Given the description of an element on the screen output the (x, y) to click on. 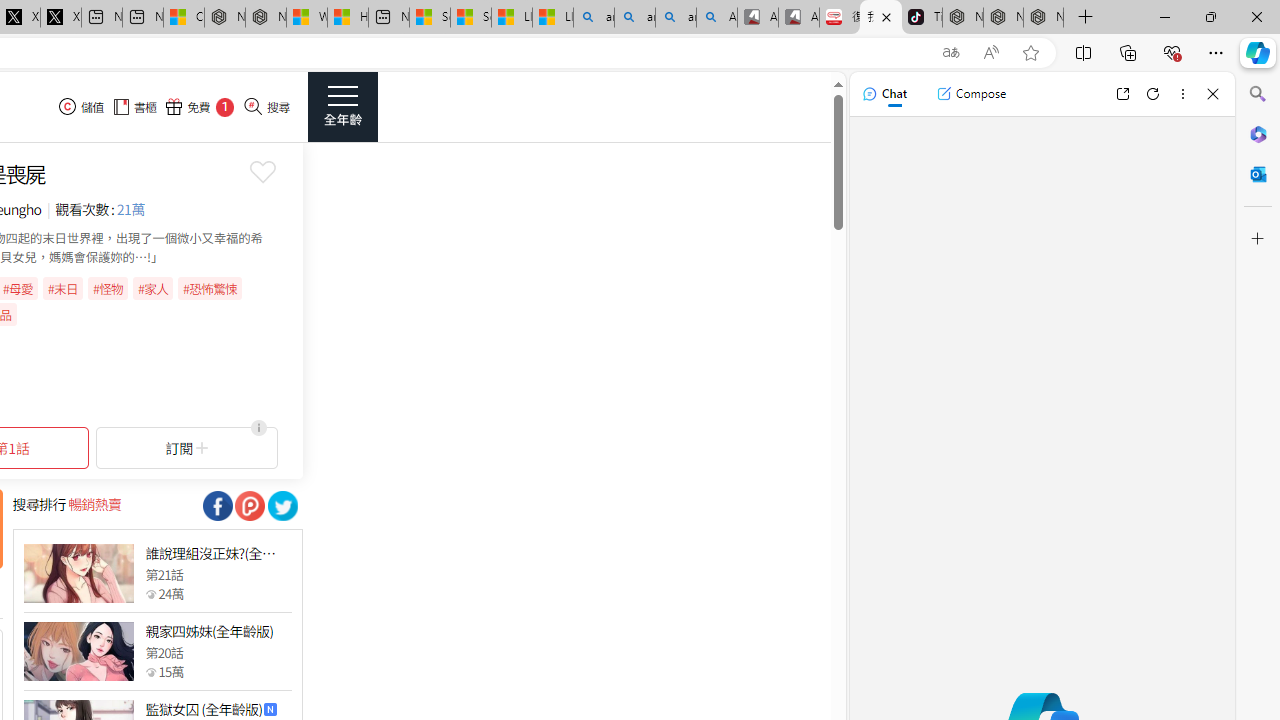
Class: epicon_starpoint (150, 671)
Settings and more (Alt+F) (1215, 52)
New tab (388, 17)
amazon - Search (634, 17)
More options (1182, 93)
Search (1258, 94)
Browser essentials (1171, 52)
